Given the description of an element on the screen output the (x, y) to click on. 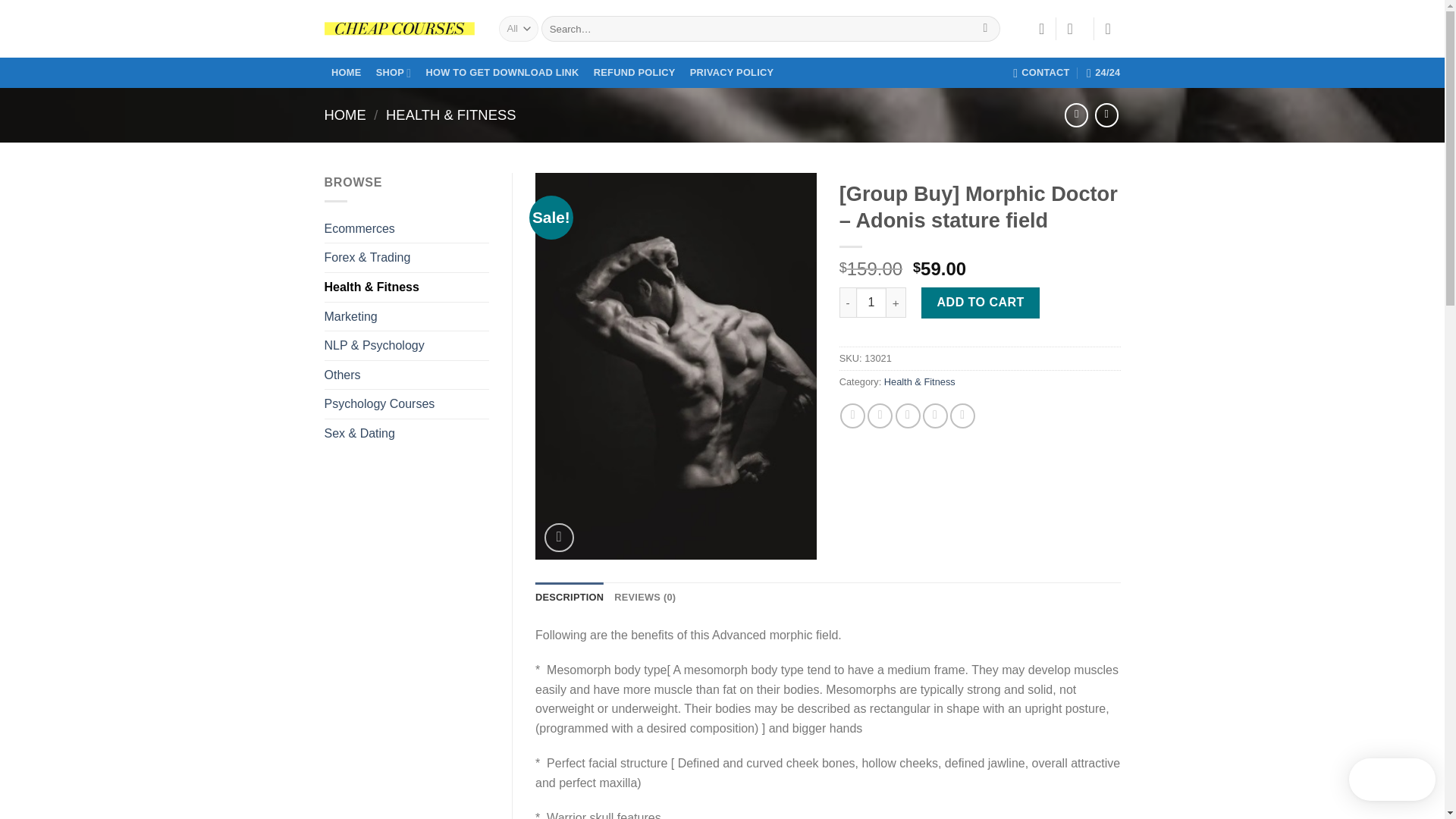
HOW TO GET DOWNLOAD LINK (502, 72)
1 (871, 302)
PRIVACY POLICY (731, 72)
Qty (871, 302)
CONTACT (1041, 72)
SHOP (393, 72)
HOME (346, 72)
Others (406, 375)
Marketing (406, 316)
HOME (345, 114)
Smartsupp widget button (1392, 779)
Search (984, 28)
REFUND POLICY (634, 72)
Ecommerces (406, 228)
Cheap Courses - Best Cheap Courses (400, 28)
